Given the description of an element on the screen output the (x, y) to click on. 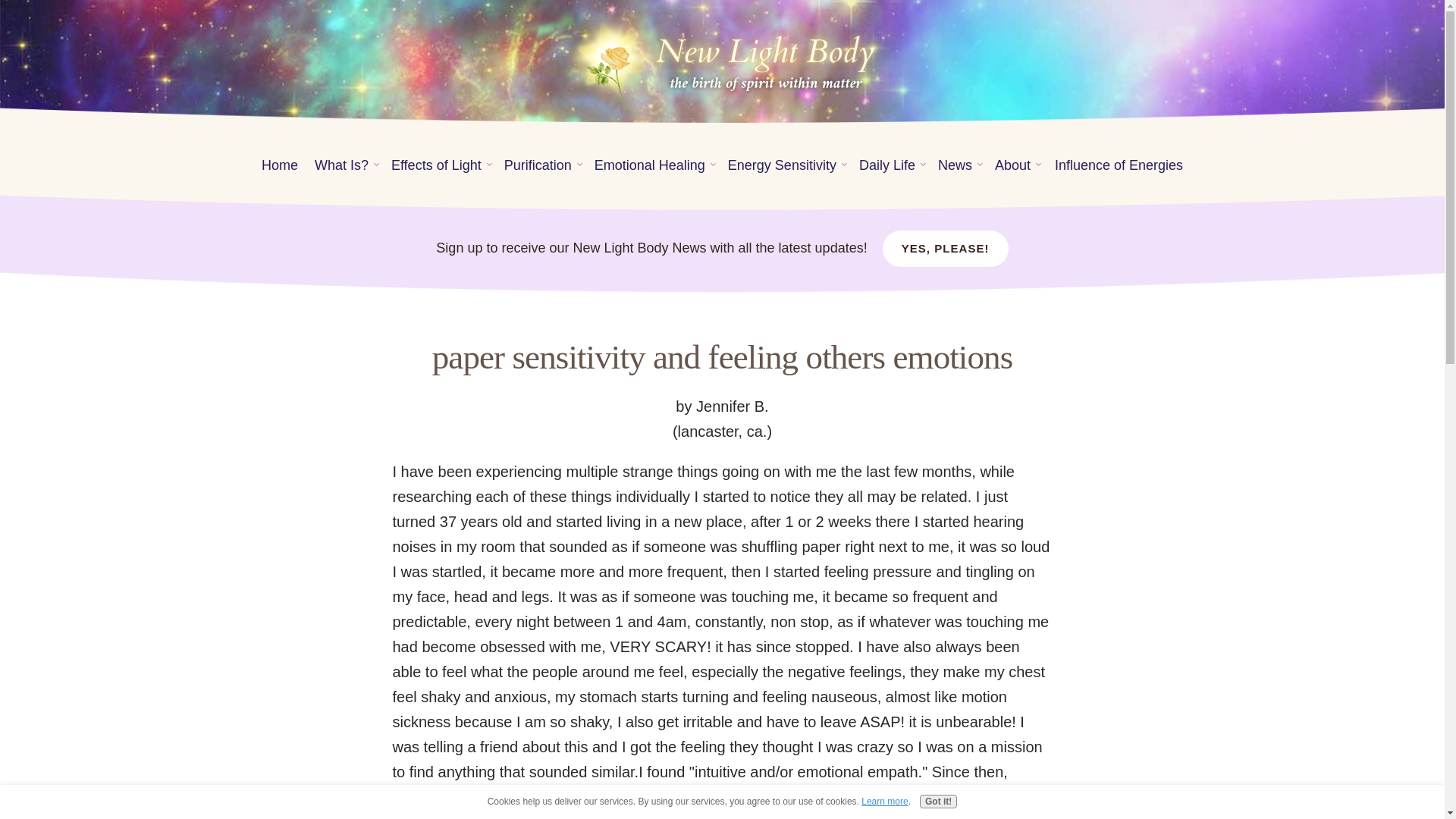
Home (279, 164)
YES, PLEASE! (945, 248)
My Website (722, 60)
Learn more (884, 801)
Influence of Energies (1118, 164)
Got it! (938, 801)
